Given the description of an element on the screen output the (x, y) to click on. 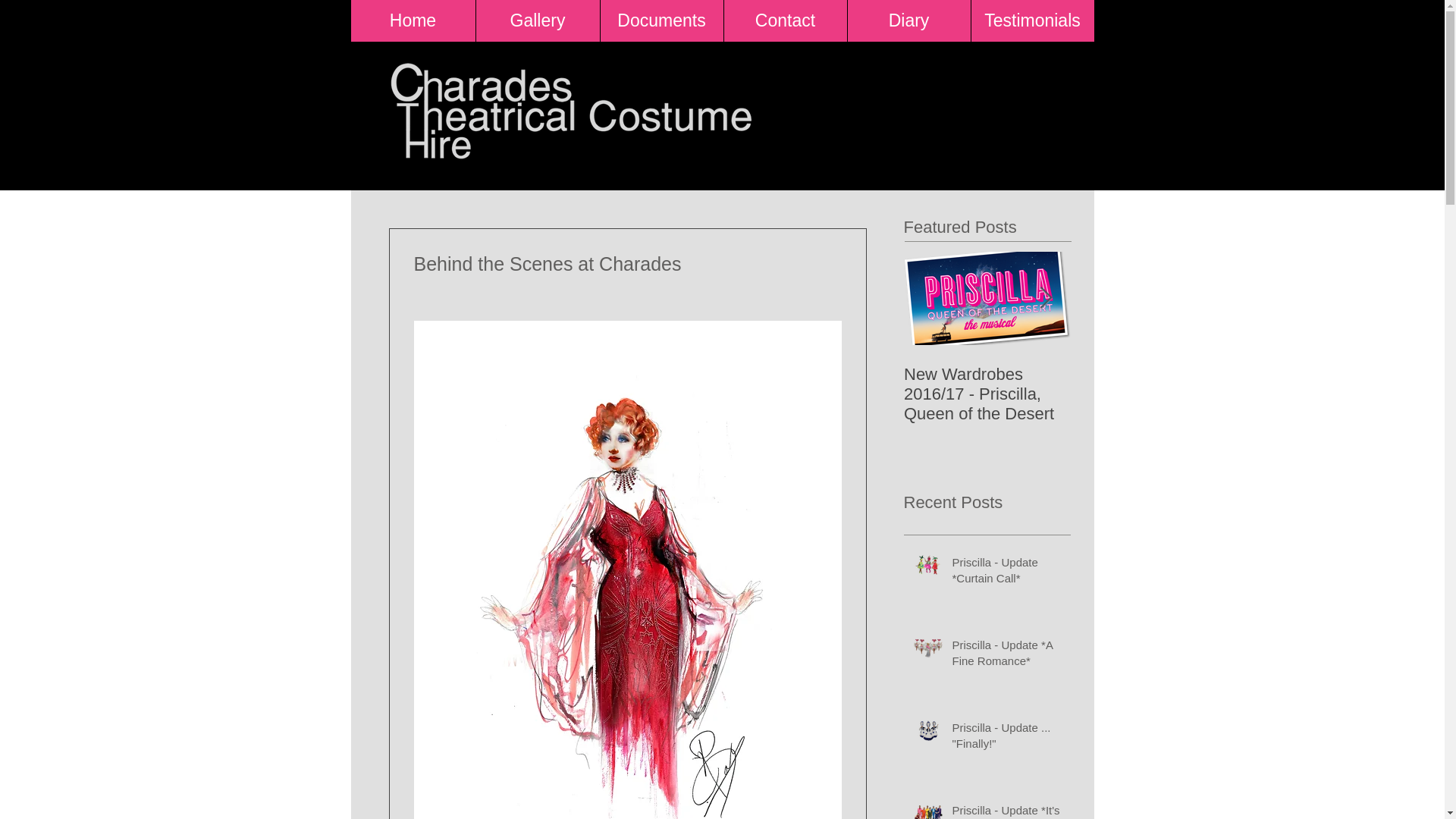
Gallery (536, 20)
Contact (785, 20)
Priscilla - Update ... "Finally!" (1006, 738)
Diary (907, 20)
Documents (660, 20)
Home (412, 20)
Testimonials (1032, 20)
